Given the description of an element on the screen output the (x, y) to click on. 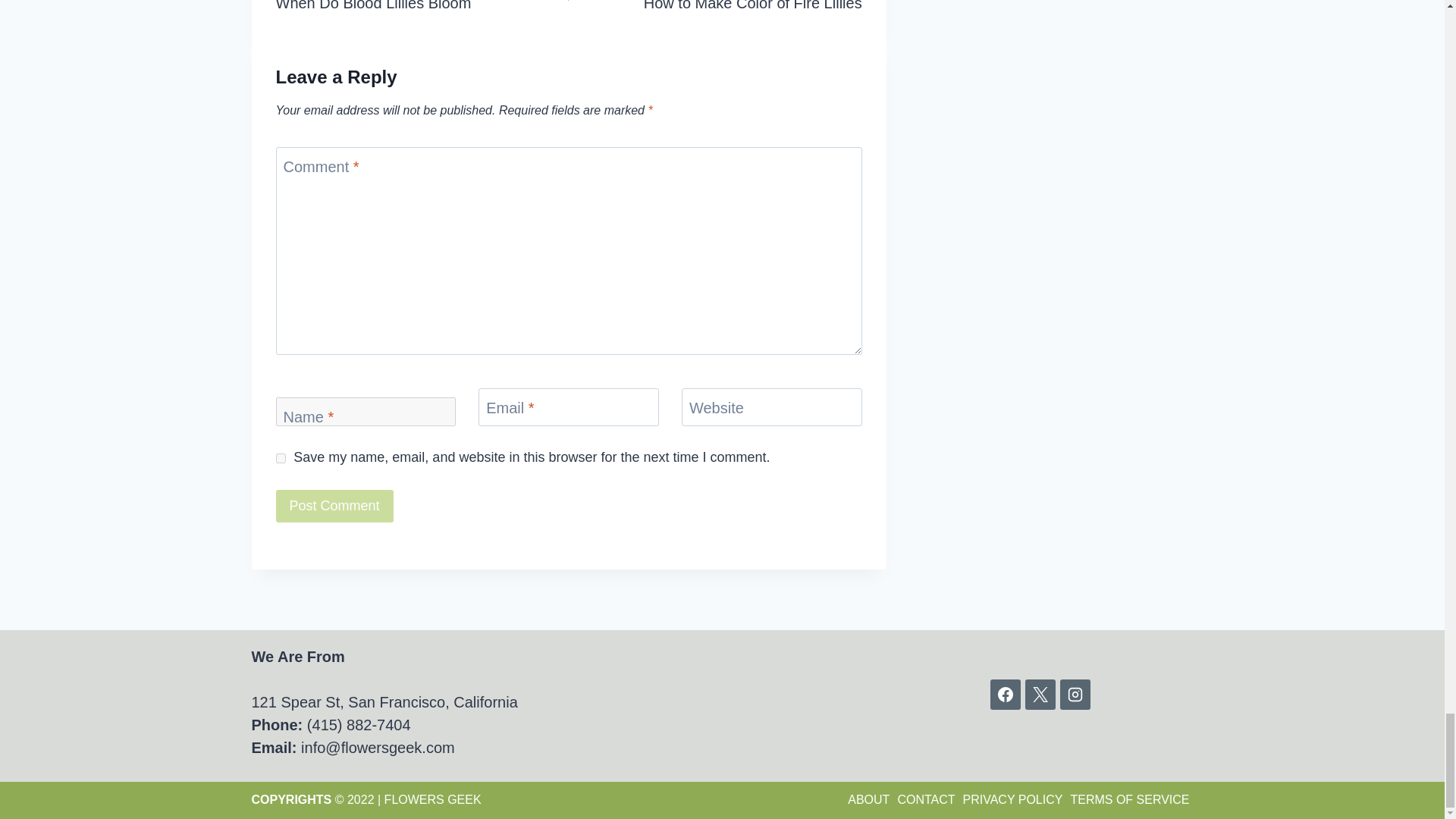
Post Comment (334, 505)
Post Comment (334, 505)
yes (715, 7)
